Given the description of an element on the screen output the (x, y) to click on. 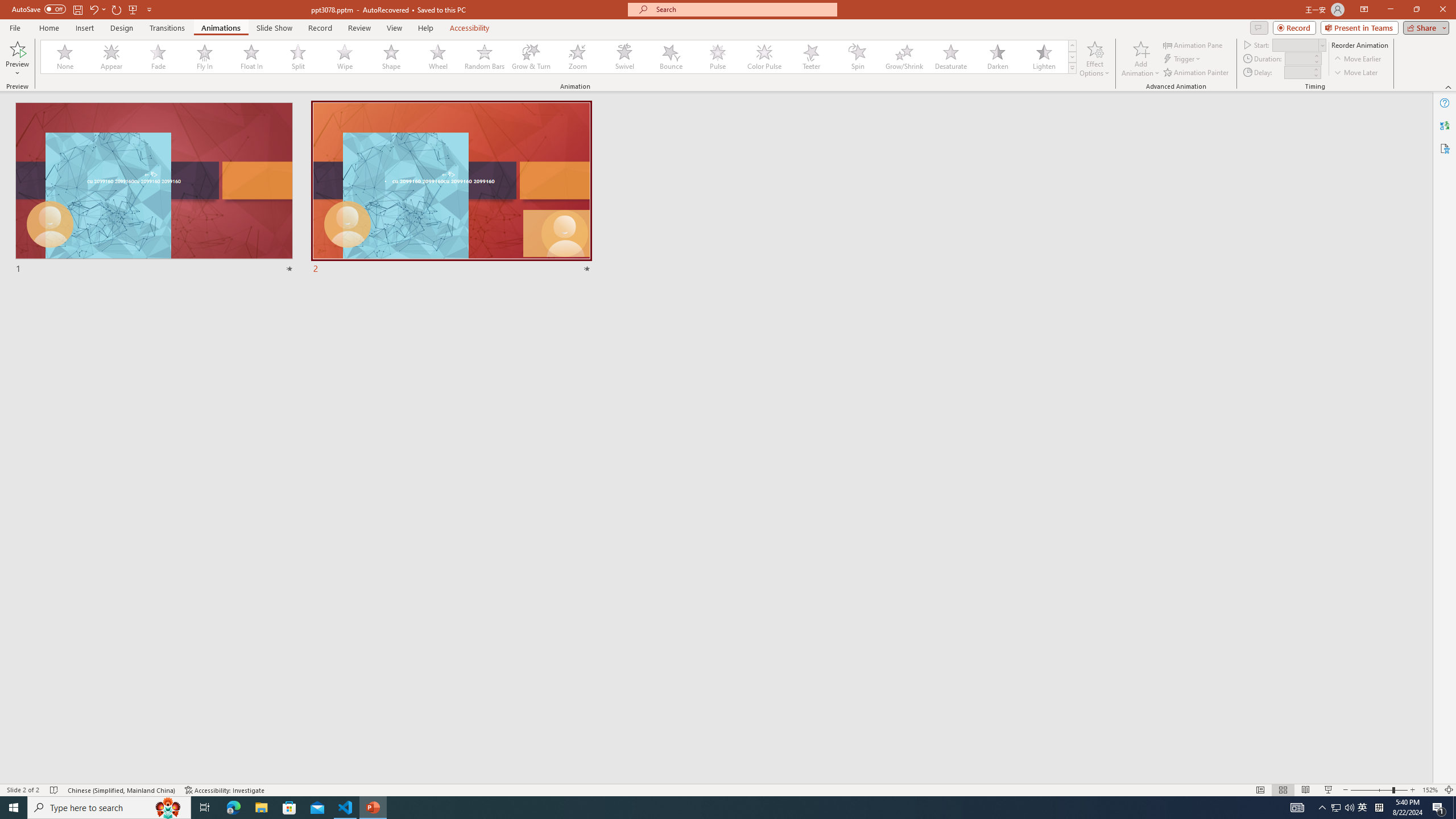
Lighten (1043, 56)
Fade (158, 56)
Desaturate (950, 56)
Pulse (717, 56)
Zoom 152% (1430, 790)
